Given the description of an element on the screen output the (x, y) to click on. 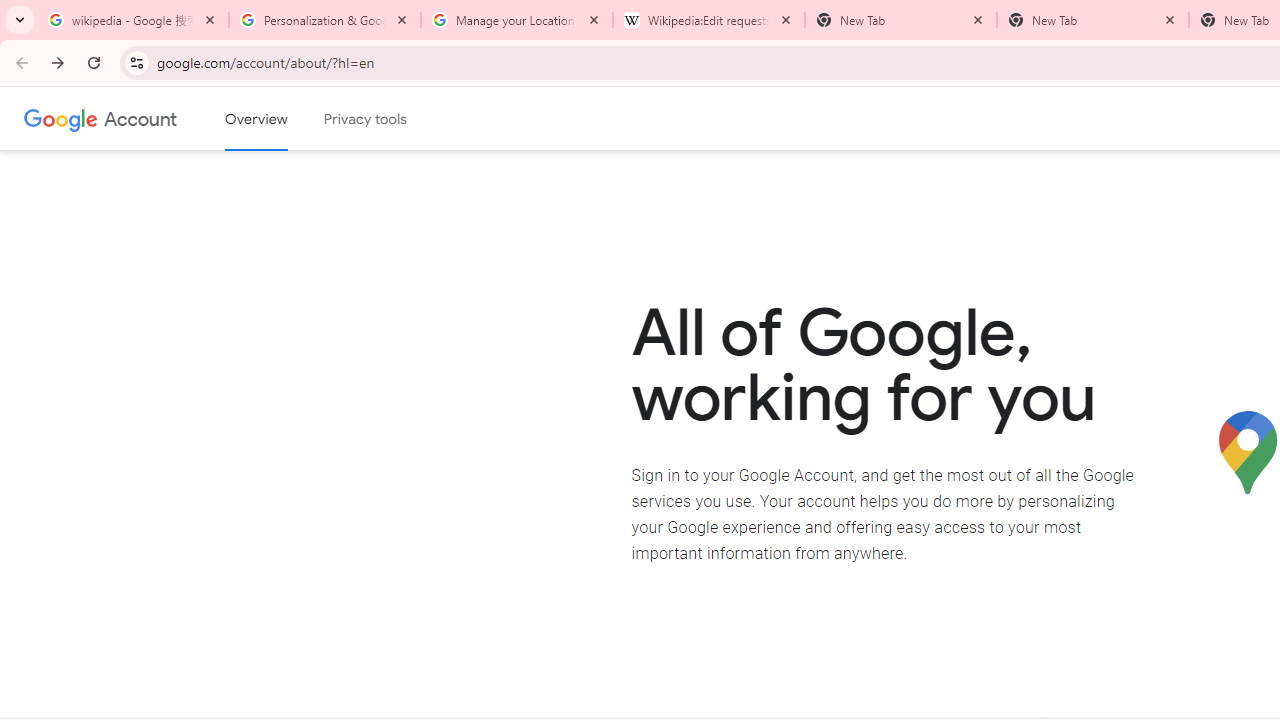
Google logo (61, 118)
